Given the description of an element on the screen output the (x, y) to click on. 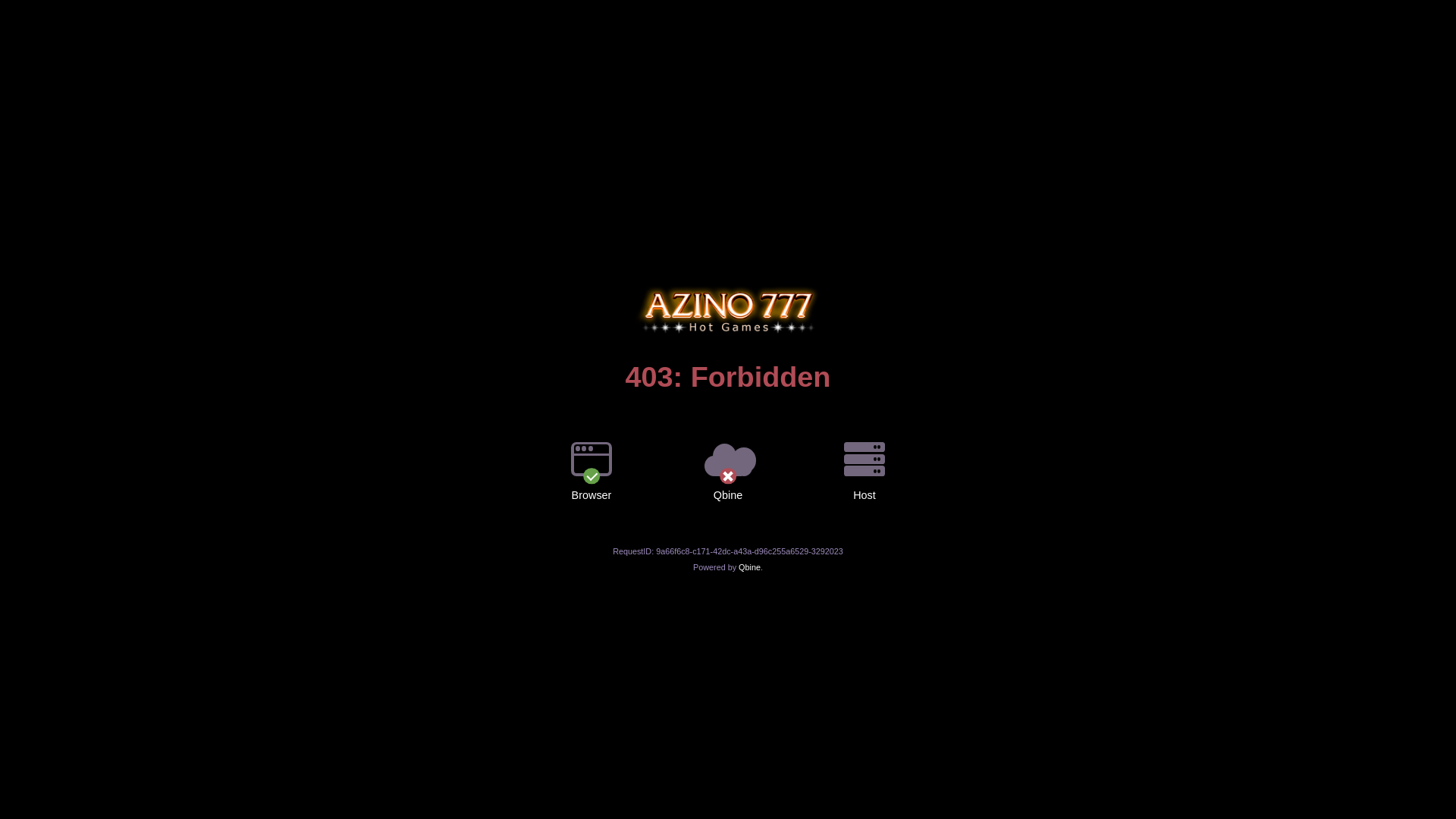
  Element type: text (727, 285)
Qbine Element type: text (749, 566)
